Given the description of an element on the screen output the (x, y) to click on. 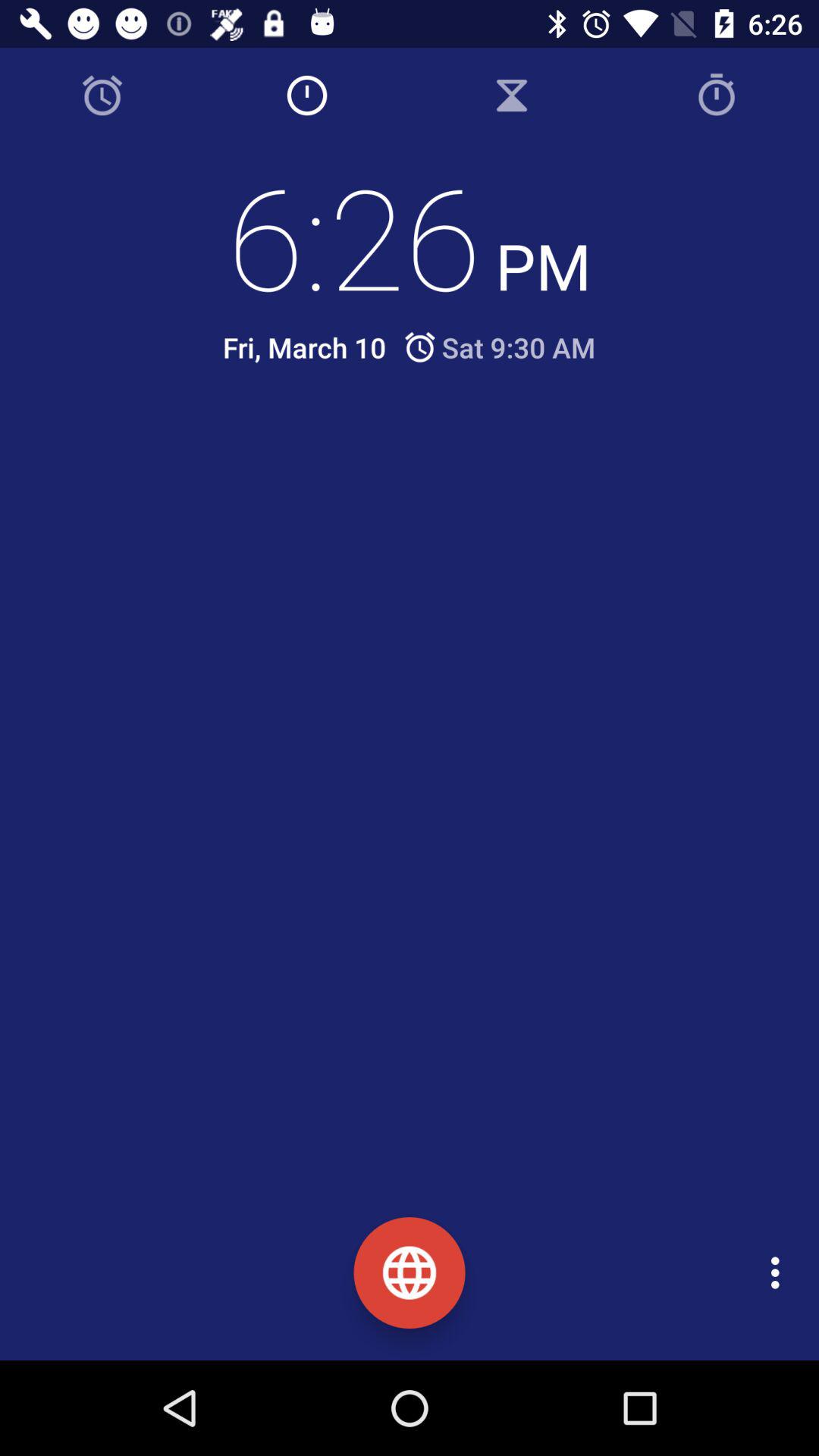
press sat 9 30 item (498, 347)
